Given the description of an element on the screen output the (x, y) to click on. 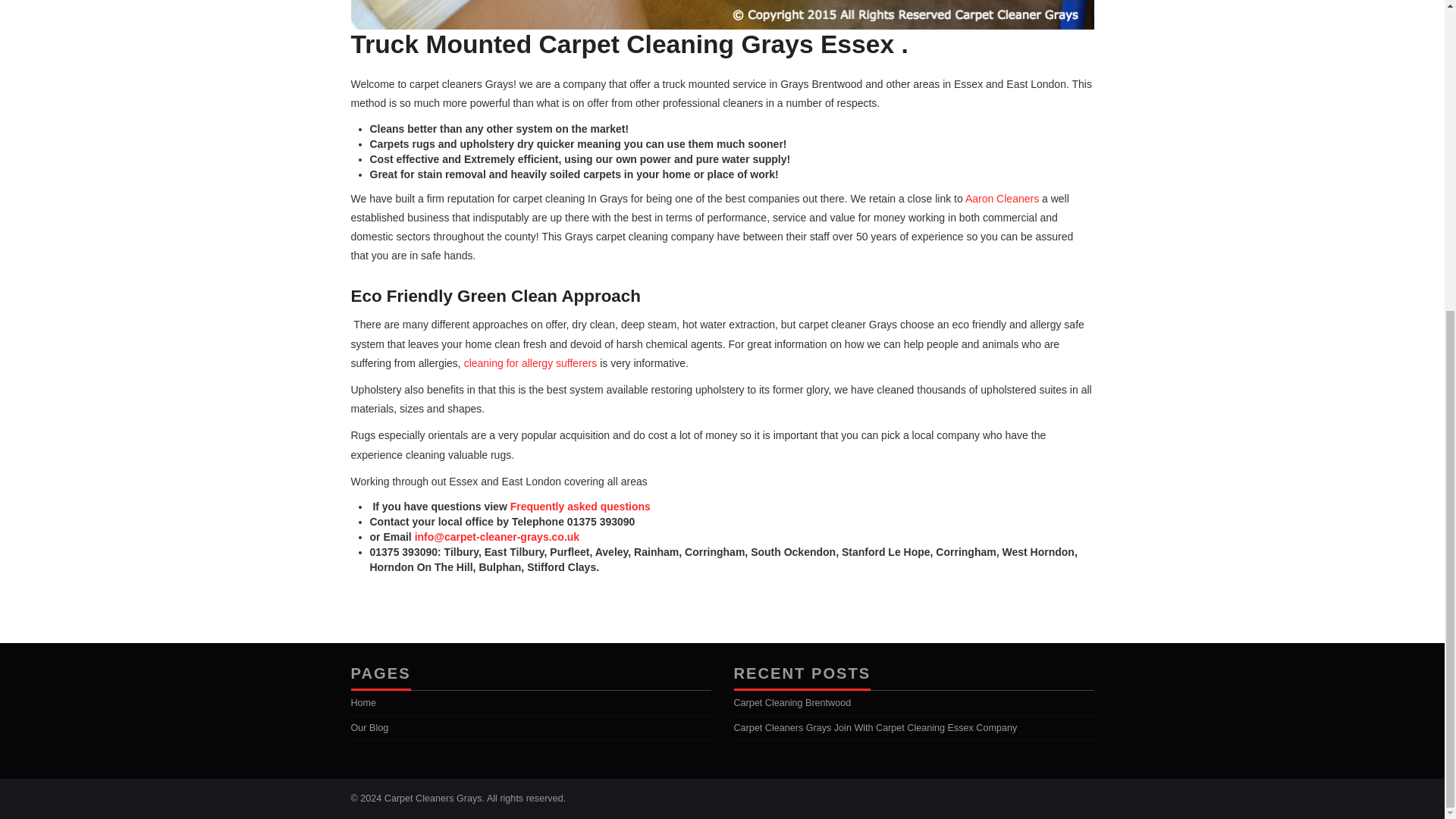
Frequently asked questions (580, 506)
cleaning for allergy sufferers (530, 363)
Our Blog (369, 727)
Aaron Cleaners (1002, 198)
Carpet Cleaning Brentwood (792, 702)
Home (362, 702)
